Given the description of an element on the screen output the (x, y) to click on. 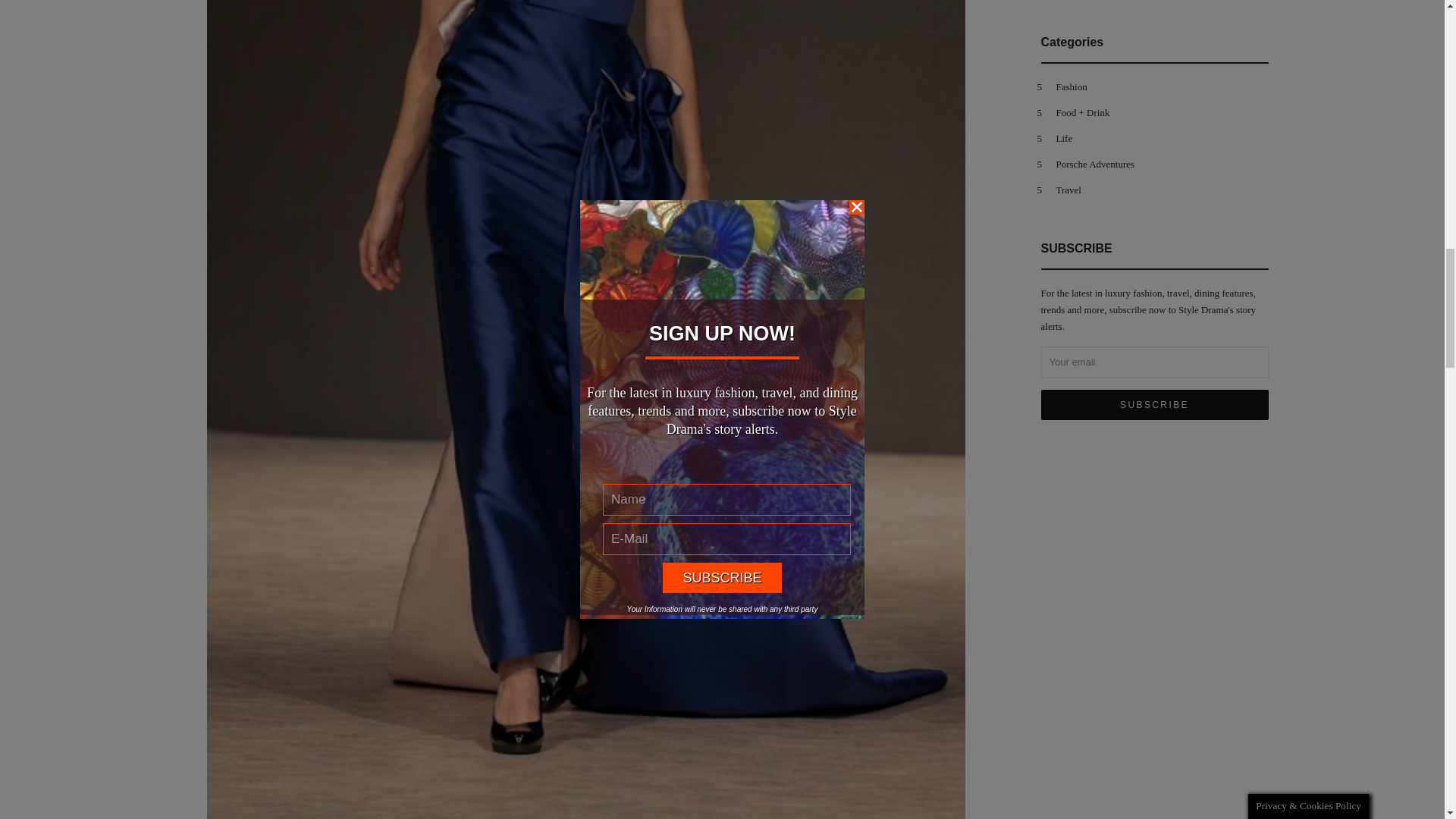
Subscribe (1154, 404)
